Given the description of an element on the screen output the (x, y) to click on. 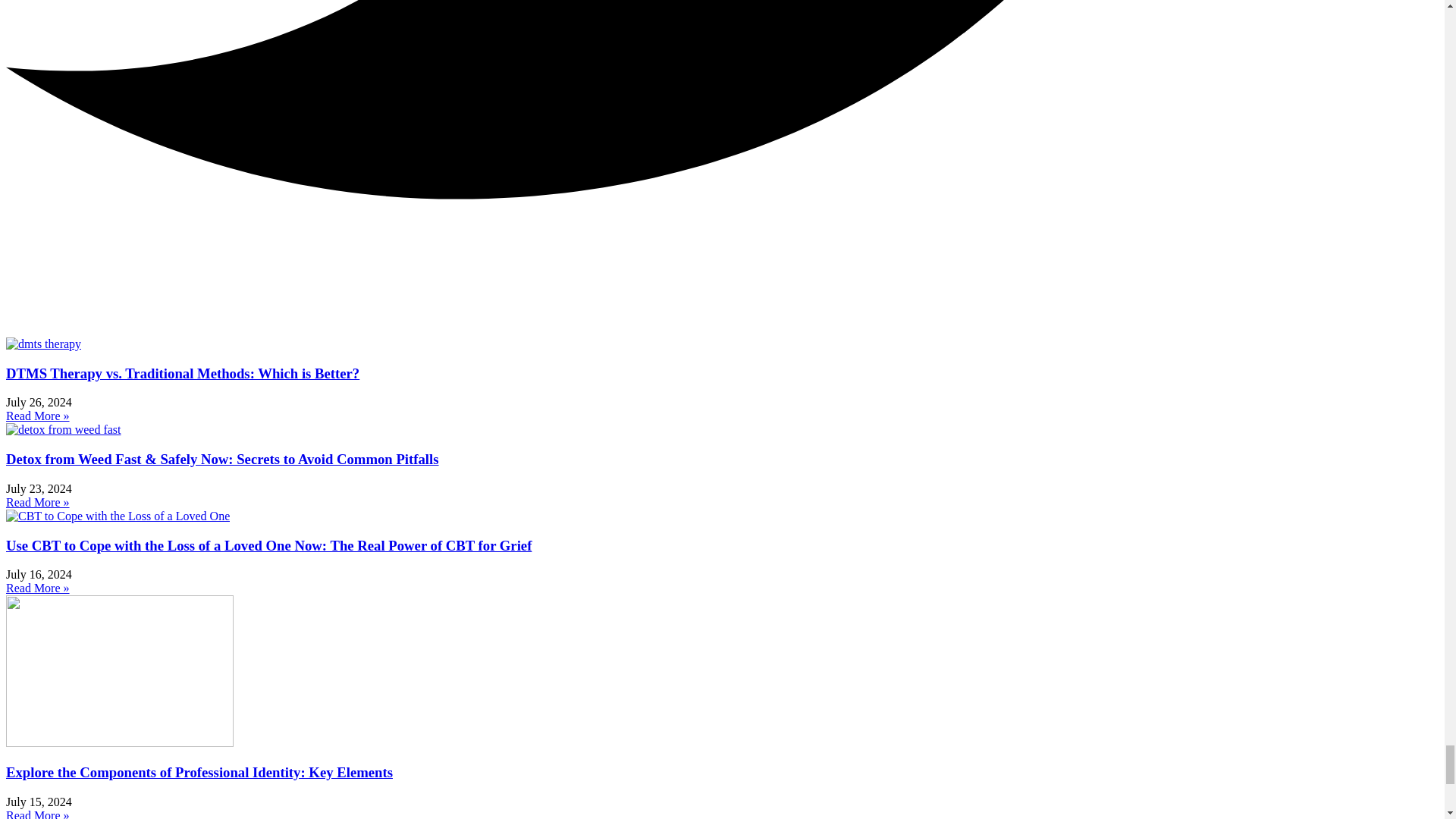
DTMS Therapy vs. Traditional Methods: Which is Better? (182, 373)
